Given the description of an element on the screen output the (x, y) to click on. 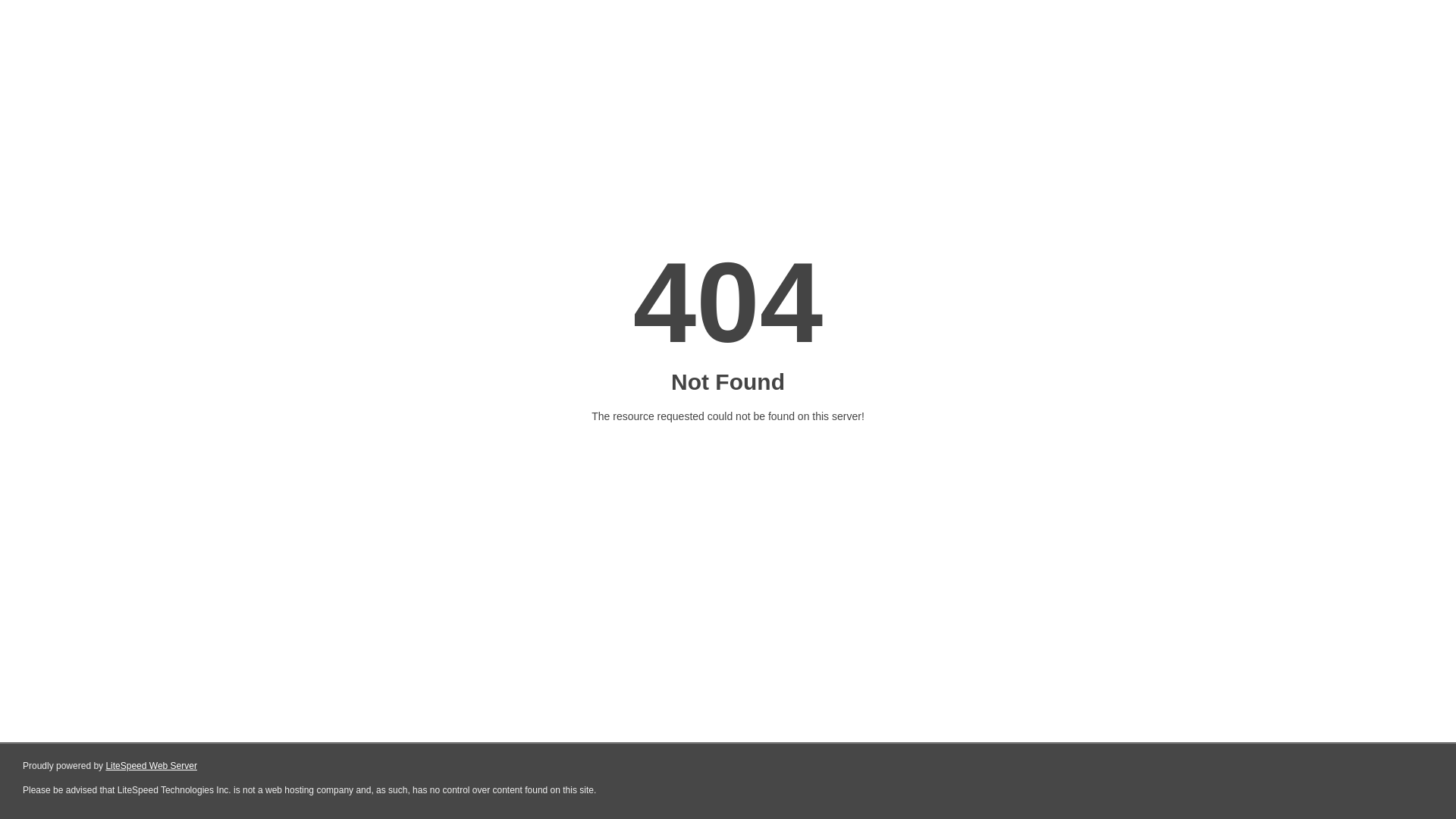
LiteSpeed Web Server Element type: text (151, 765)
